Given the description of an element on the screen output the (x, y) to click on. 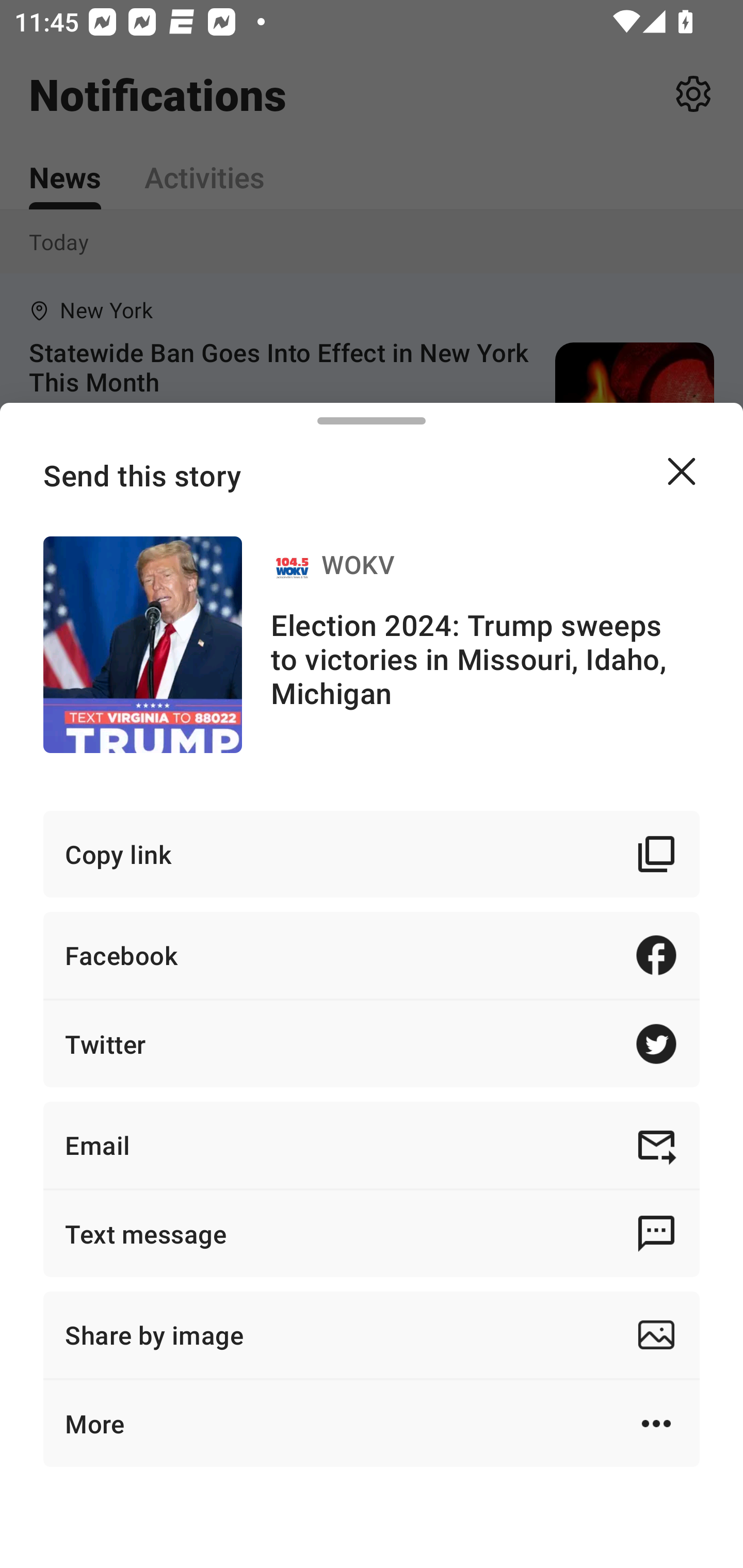
Copy link (371, 853)
Facebook (371, 955)
Twitter (371, 1043)
Email (371, 1145)
Text message (371, 1233)
Share by image (371, 1335)
More (371, 1423)
